Given the description of an element on the screen output the (x, y) to click on. 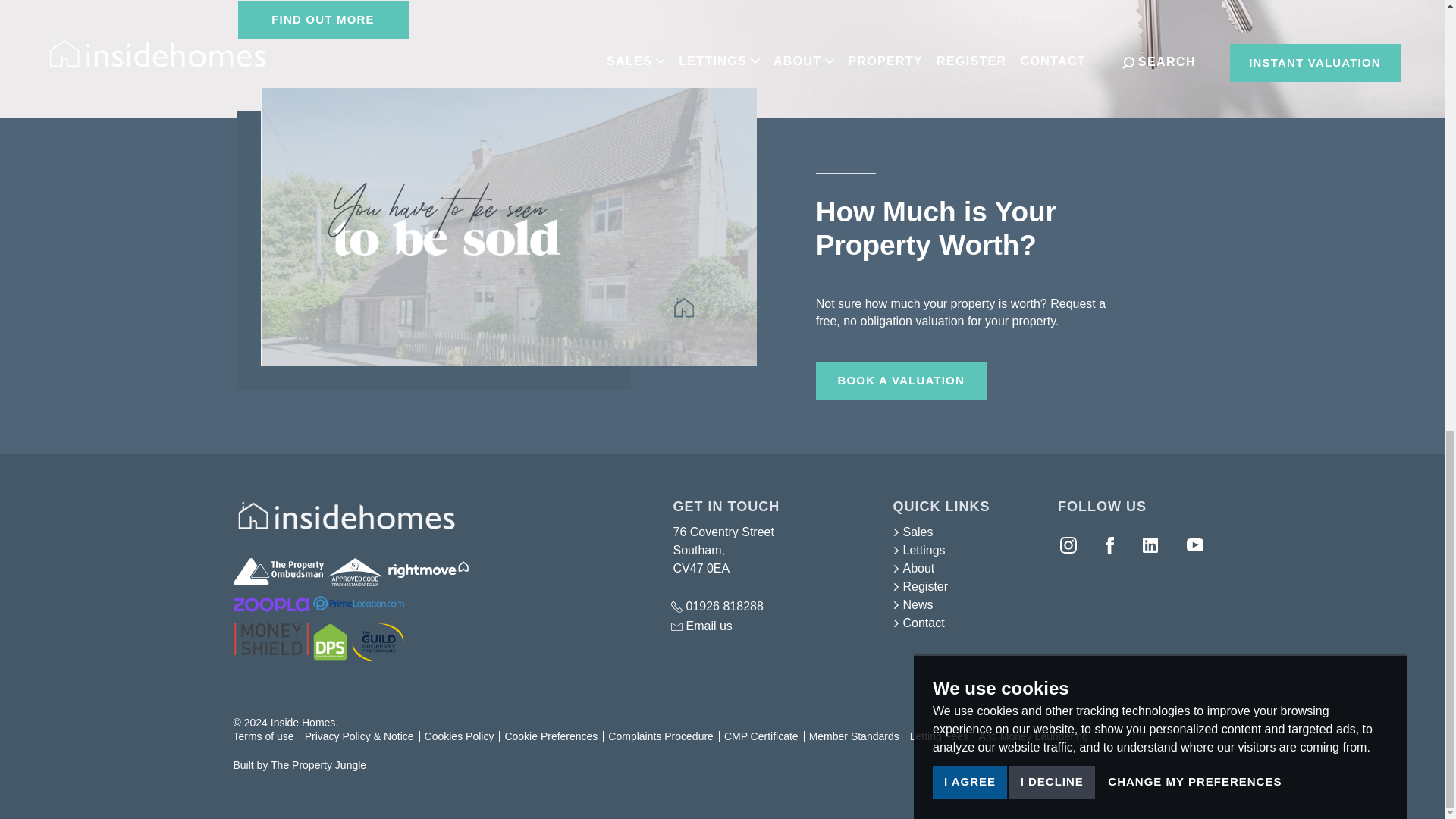
CHANGE MY PREFERENCES (1194, 13)
I AGREE (970, 17)
I DECLINE (1051, 14)
BOOK A VALUATION (901, 380)
FIND OUT MORE (323, 19)
